Given the description of an element on the screen output the (x, y) to click on. 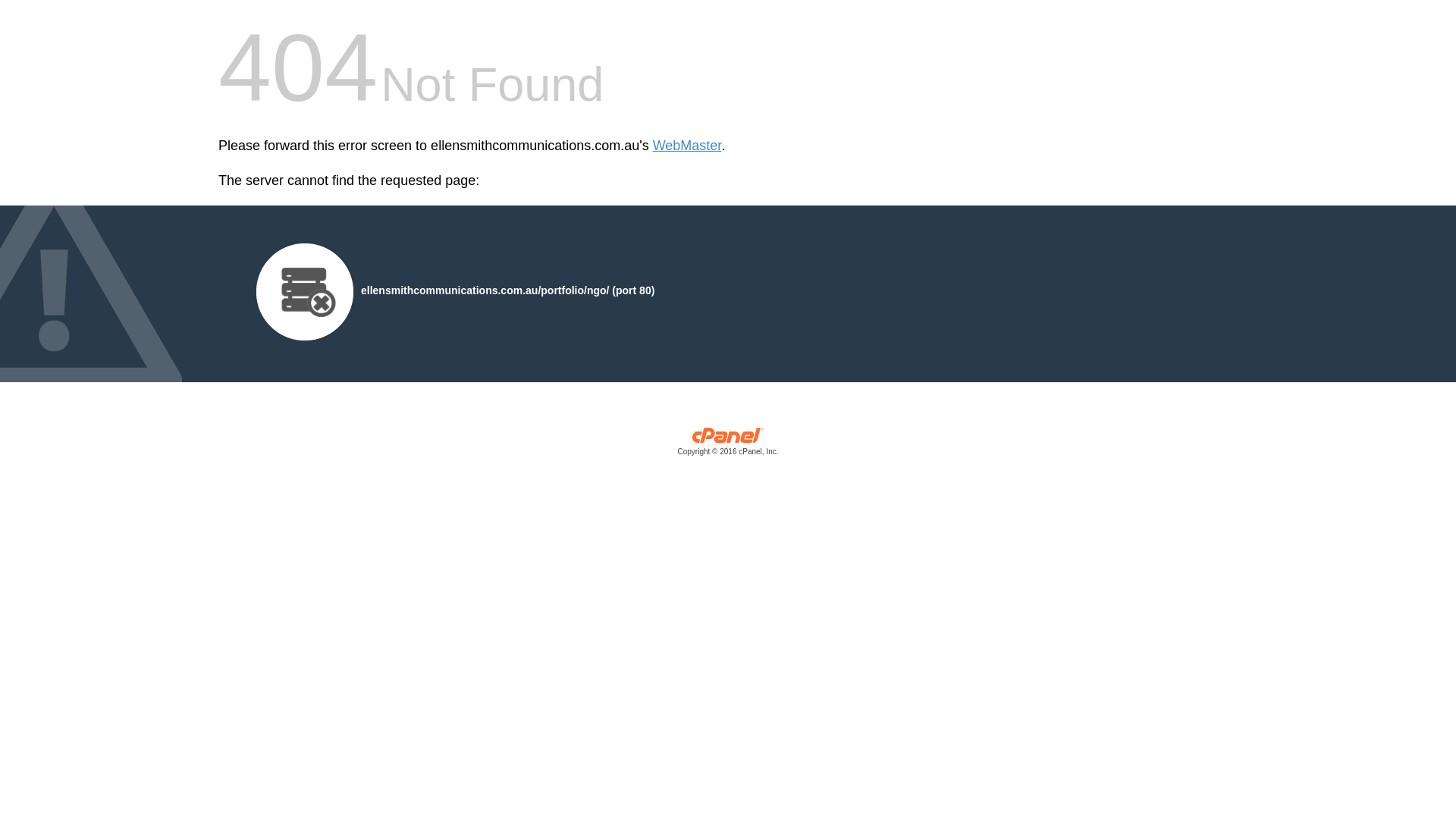
WebMaster Element type: text (686, 145)
